Given the description of an element on the screen output the (x, y) to click on. 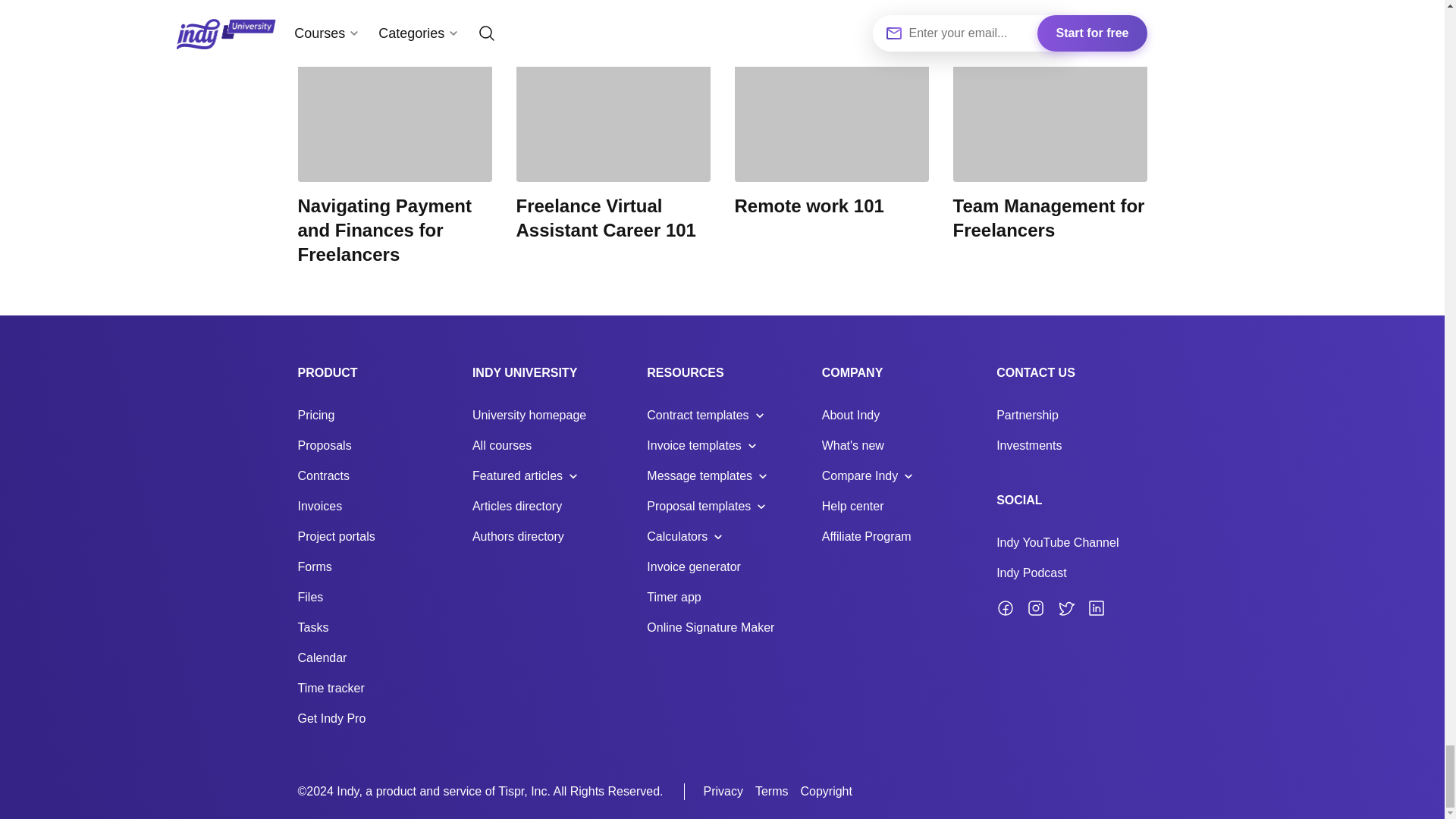
Team Management for Freelancers (1049, 139)
Proposals (323, 445)
Pricing (315, 414)
Remote work 101 (830, 127)
Freelance Virtual Assistant Career 101 (612, 139)
